Given the description of an element on the screen output the (x, y) to click on. 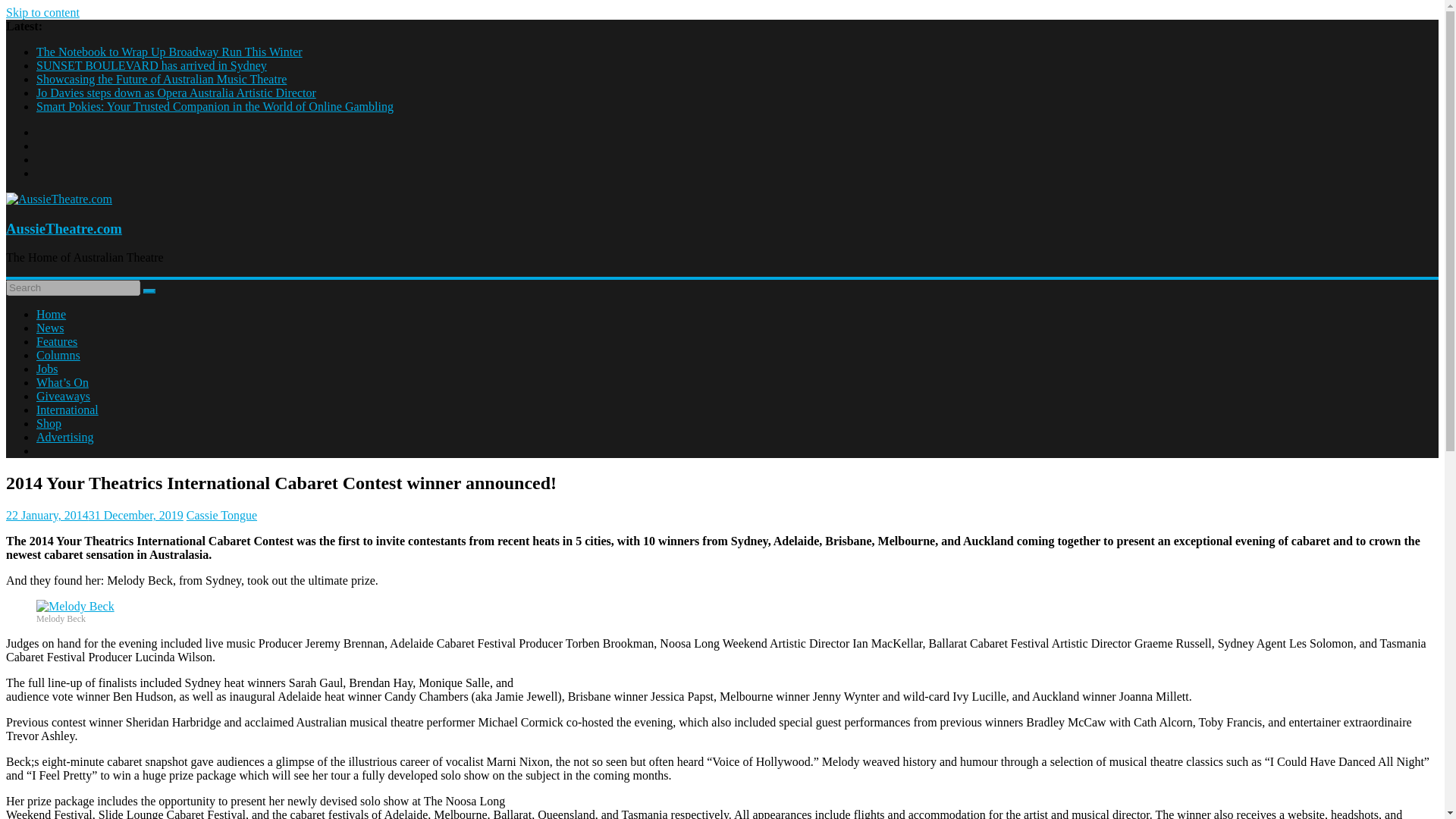
Jo Davies steps down as Opera Australia Artistic Director (175, 92)
9:45 am (94, 514)
Showcasing the Future of Australian Music Theatre (161, 78)
AussieTheatre.com (63, 228)
International (67, 409)
News (50, 327)
Shop (48, 422)
Jobs (47, 368)
Showcasing the Future of Australian Music Theatre (161, 78)
